Given the description of an element on the screen output the (x, y) to click on. 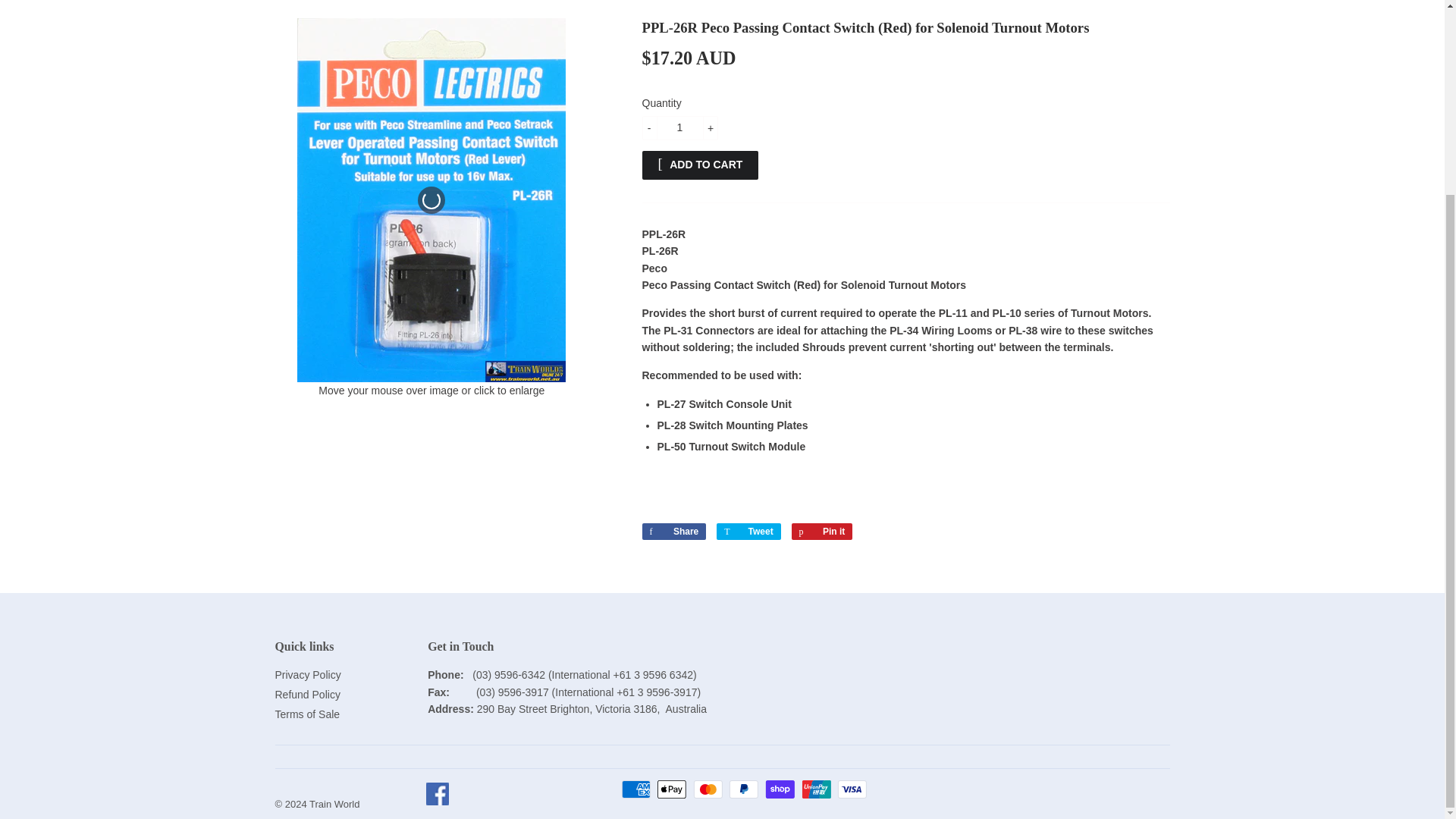
American Express (635, 789)
Visa (852, 789)
1 (679, 128)
Check out our Facebook pages (438, 803)
Shop Pay (779, 789)
Share on Facebook (674, 531)
Apple Pay (671, 789)
Mastercard (708, 789)
Tweet on Twitter (748, 531)
PayPal (743, 789)
